Given the description of an element on the screen output the (x, y) to click on. 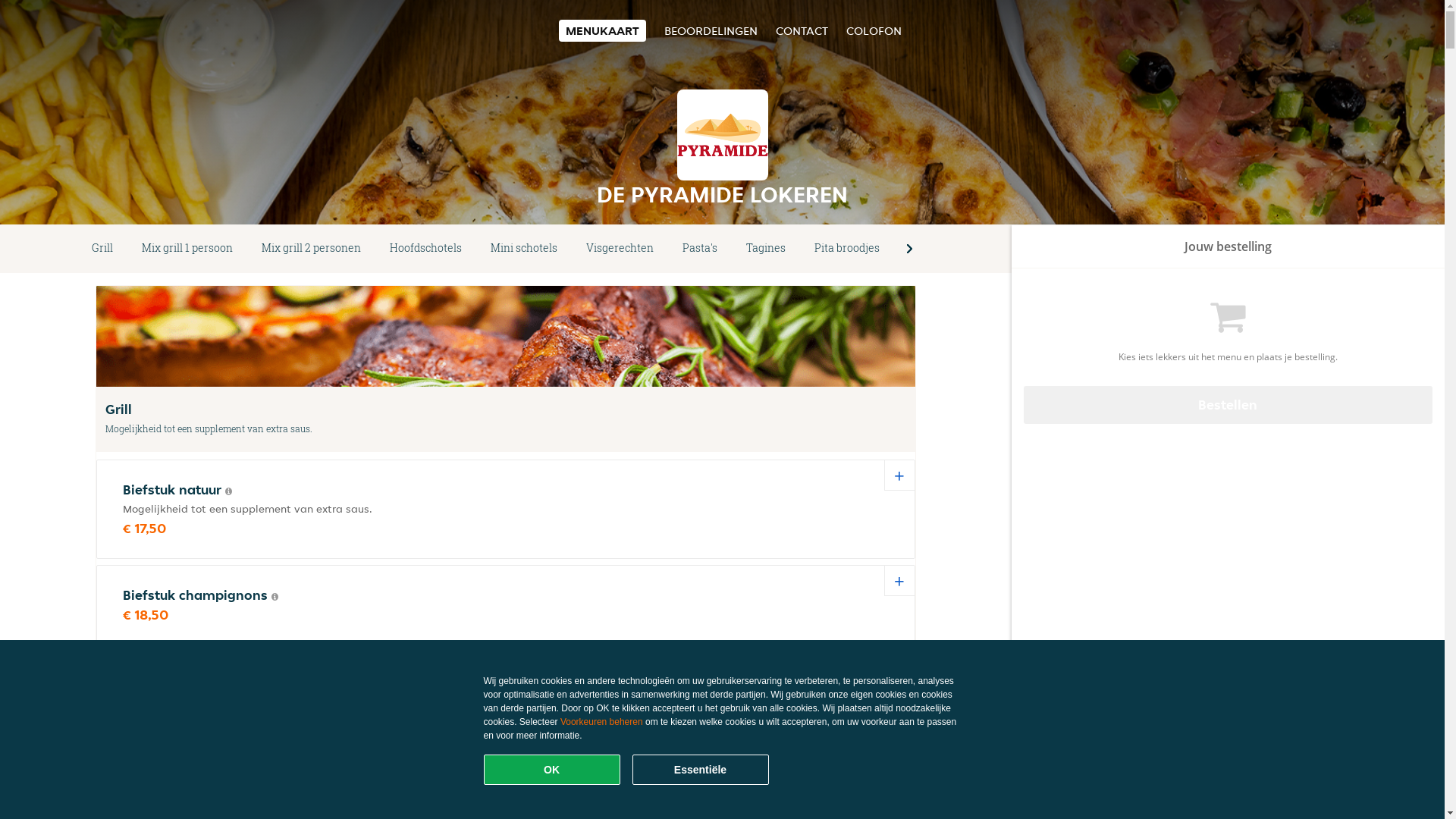
COLOFON Element type: text (873, 30)
Hoofdschotels Element type: text (425, 248)
Tagines Element type: text (765, 248)
Mix grill 1 persoon Element type: text (187, 248)
Mini schotels Element type: text (523, 248)
Meer productinformatie Element type: hover (274, 596)
Bestellen Element type: text (1228, 404)
OK Element type: text (551, 769)
MENUKAART Element type: text (601, 30)
Voorkeuren beheren Element type: text (601, 721)
Grill Element type: text (102, 248)
Mix grill 2 personen Element type: text (311, 248)
Meer productinformatie Element type: hover (287, 682)
Meer productinformatie Element type: hover (228, 491)
Pita broodjes Element type: text (847, 248)
Visgerechten Element type: text (619, 248)
Pasta's Element type: text (699, 248)
CONTACT Element type: text (801, 30)
BEOORDELINGEN Element type: text (710, 30)
